Given the description of an element on the screen output the (x, y) to click on. 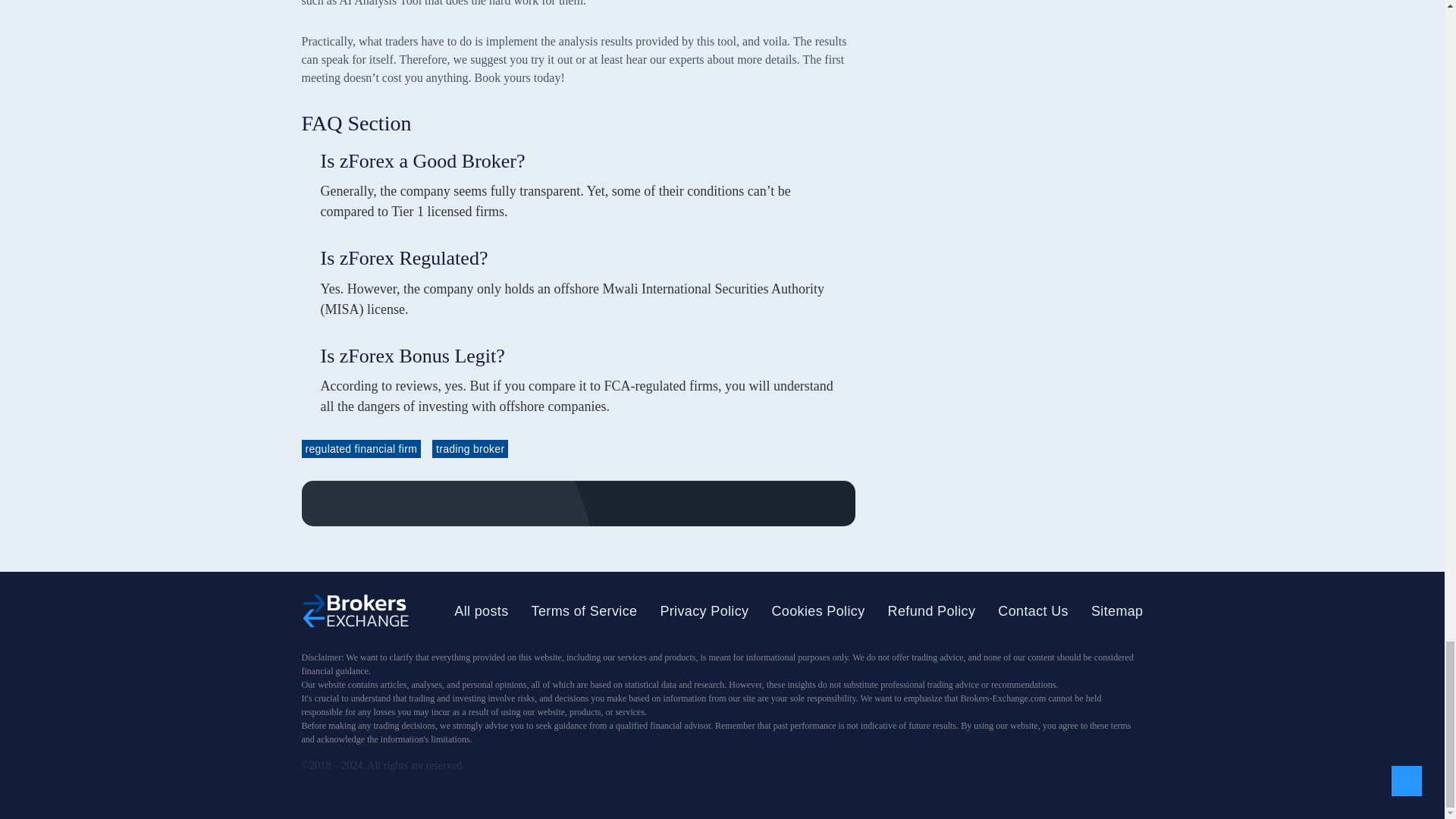
All posts (481, 611)
regulated financial firm (361, 448)
trading broker (470, 448)
Terms of Service (584, 611)
